Given the description of an element on the screen output the (x, y) to click on. 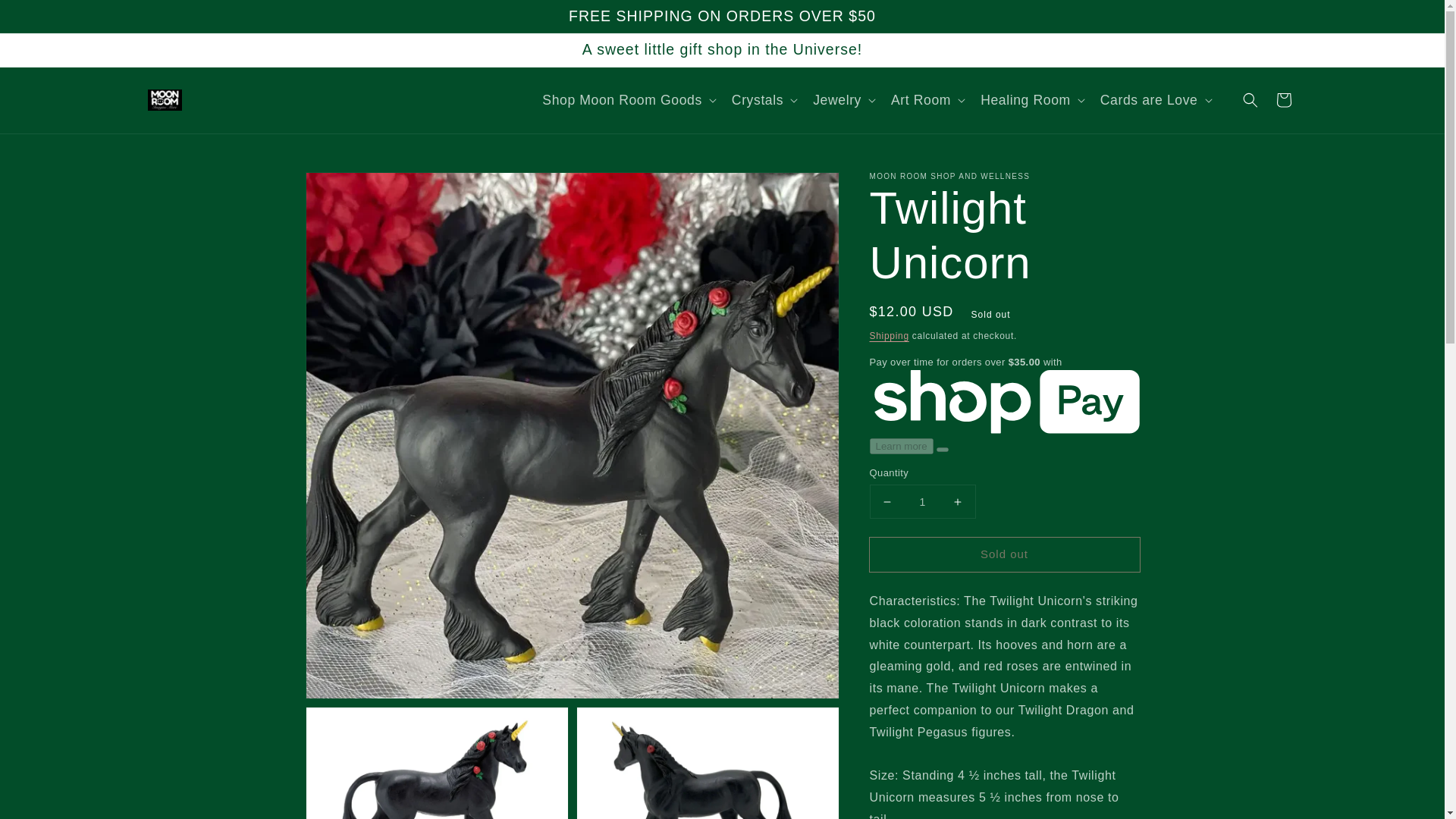
Skip to content (45, 16)
1 (922, 501)
